Given the description of an element on the screen output the (x, y) to click on. 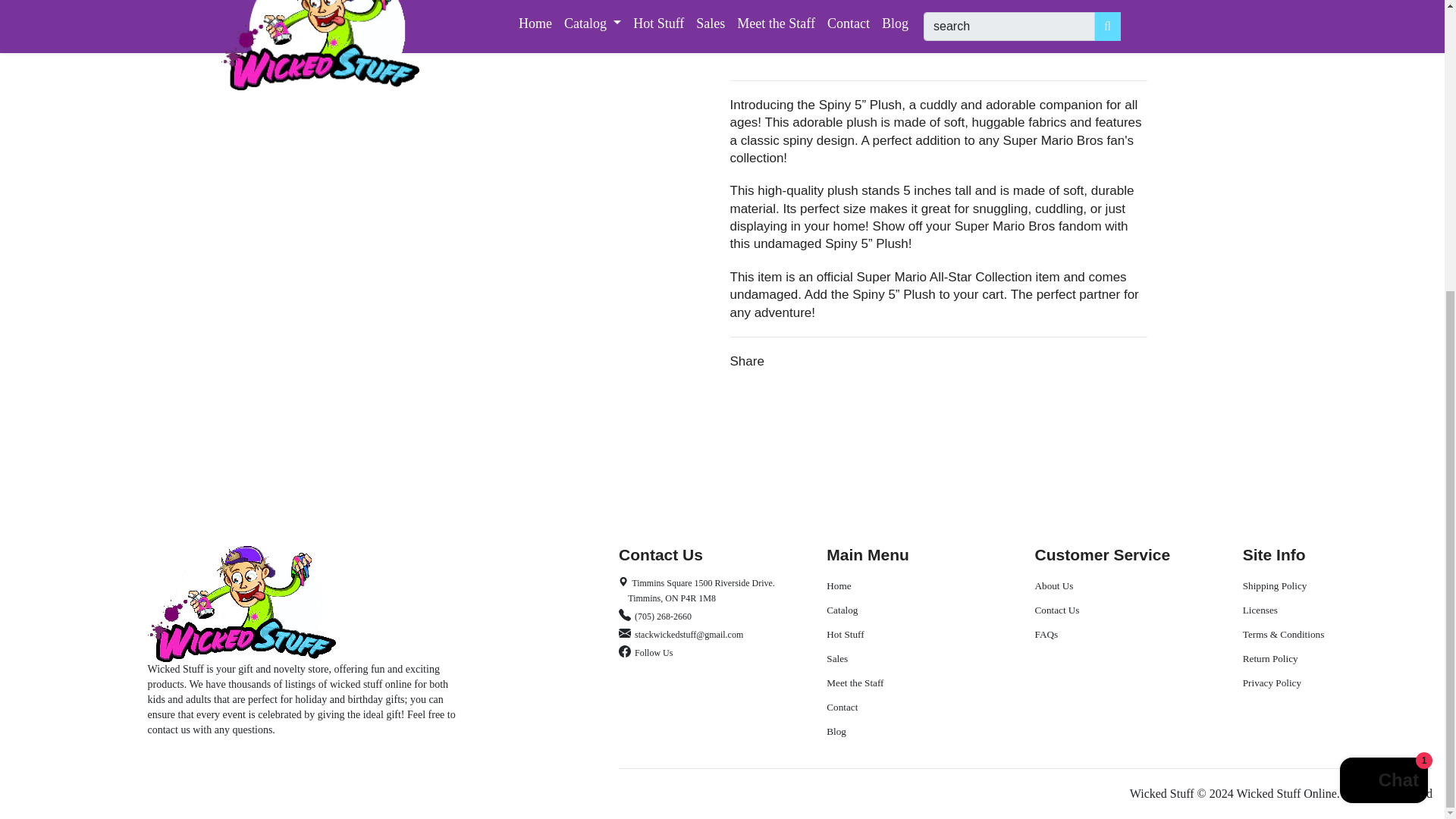
Shopify online store chat (1383, 338)
